Given the description of an element on the screen output the (x, y) to click on. 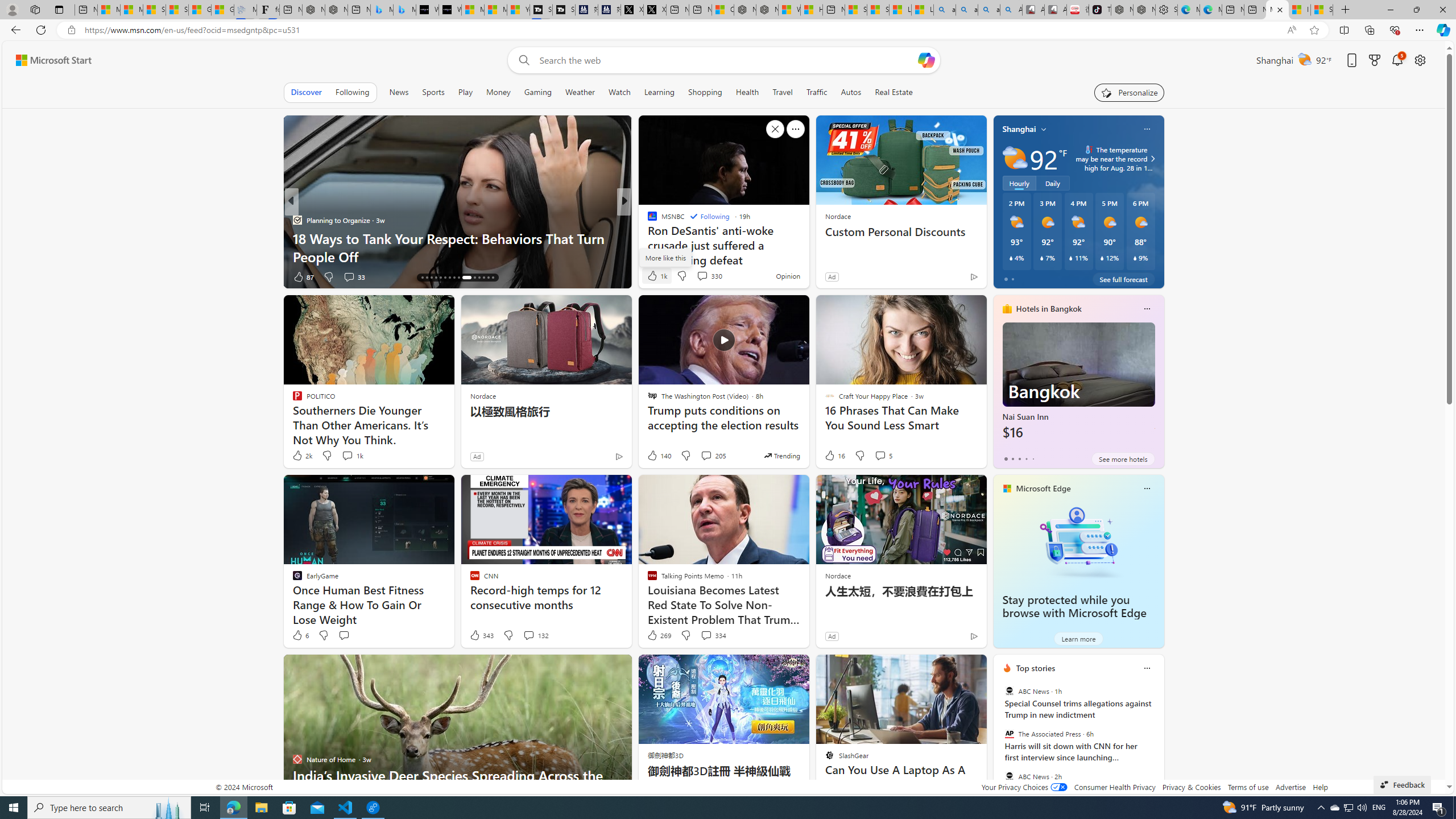
Custom Personal Discounts (900, 232)
View comments 266 Comment (703, 276)
amazon - Search Images (988, 9)
AutomationID: tab-17 (426, 277)
AutomationID: tab-26 (474, 277)
AutomationID: tab-21 (444, 277)
View comments 5 Comment (882, 455)
See more hotels (1123, 459)
